Given the description of an element on the screen output the (x, y) to click on. 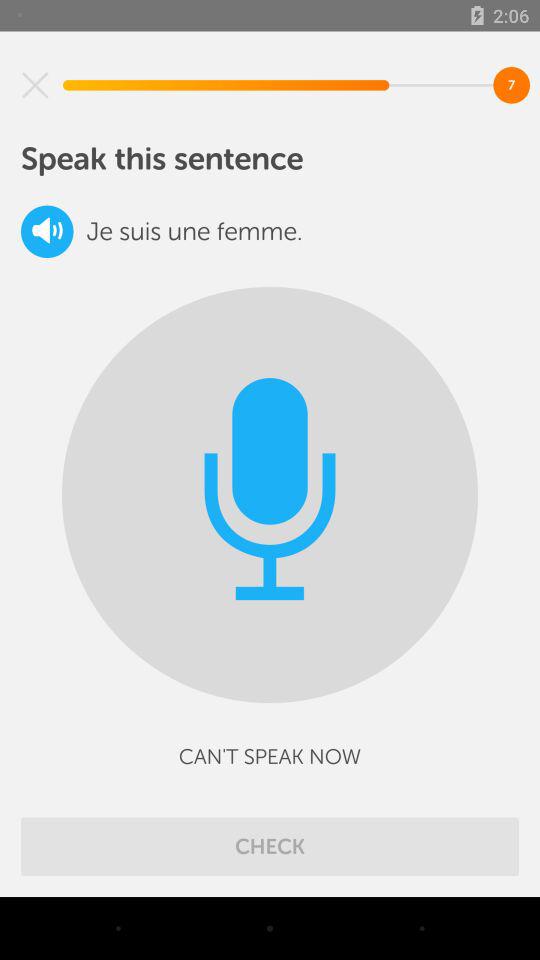
open check icon (270, 846)
